Given the description of an element on the screen output the (x, y) to click on. 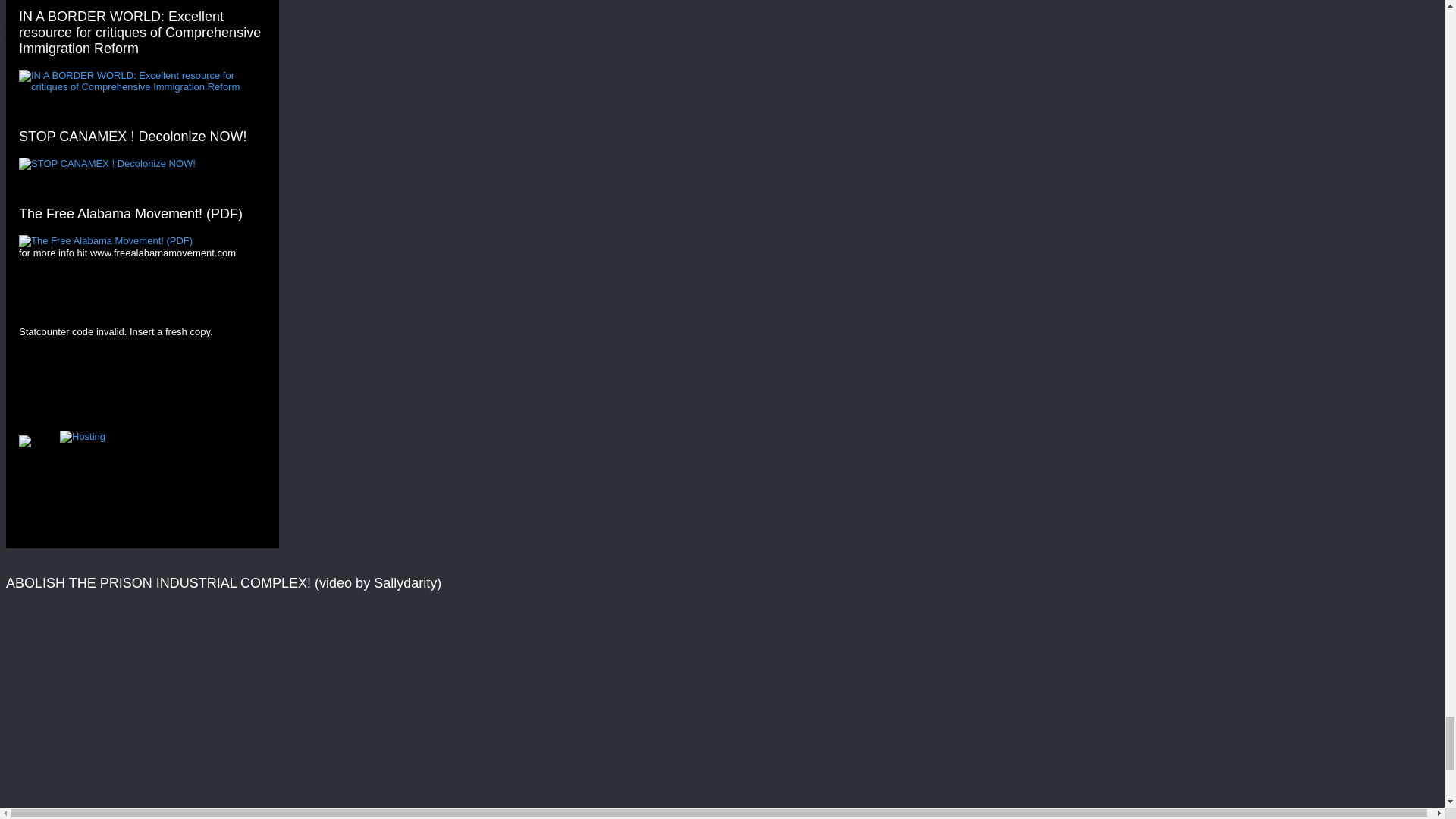
Free Blog Counters, Stats and Widgets (24, 443)
